Given the description of an element on the screen output the (x, y) to click on. 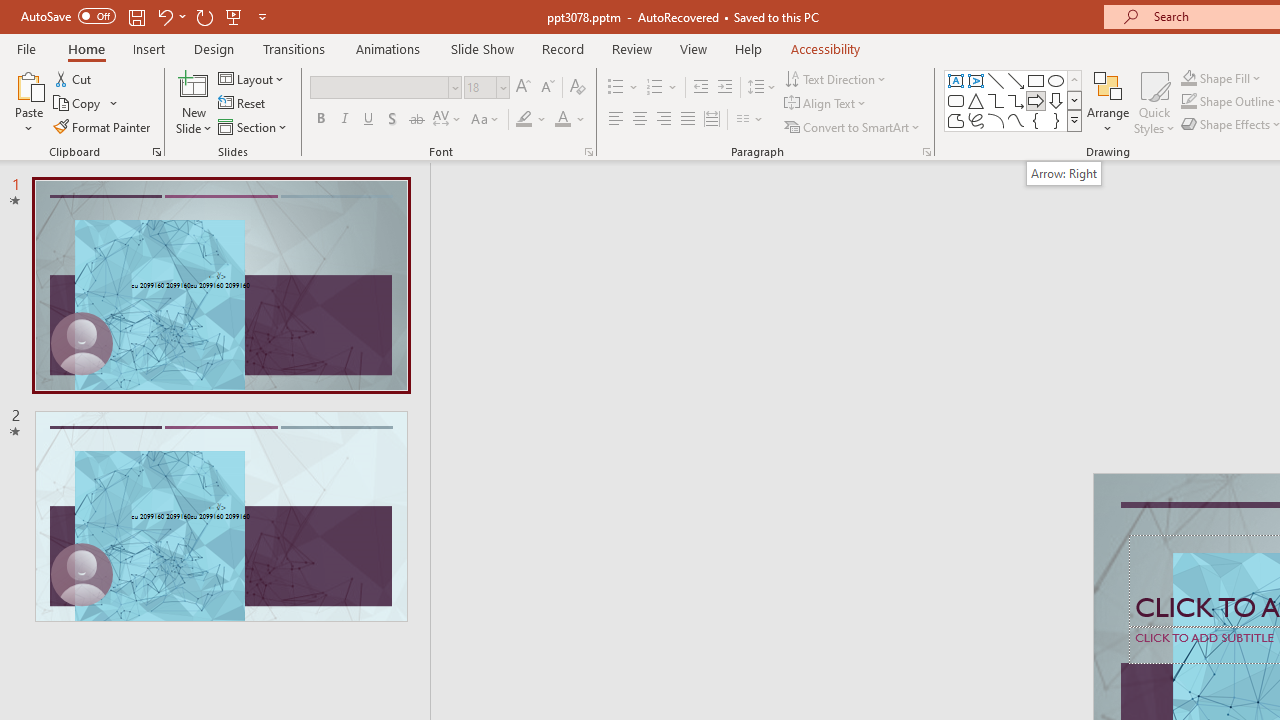
Rectangle: Rounded Corners (955, 100)
Text Highlight Color Yellow (524, 119)
Italic (344, 119)
Arrow: Right (1035, 100)
Distributed (712, 119)
Arrow: Down (1055, 100)
Font Color Red (562, 119)
Align Text (826, 103)
